Given the description of an element on the screen output the (x, y) to click on. 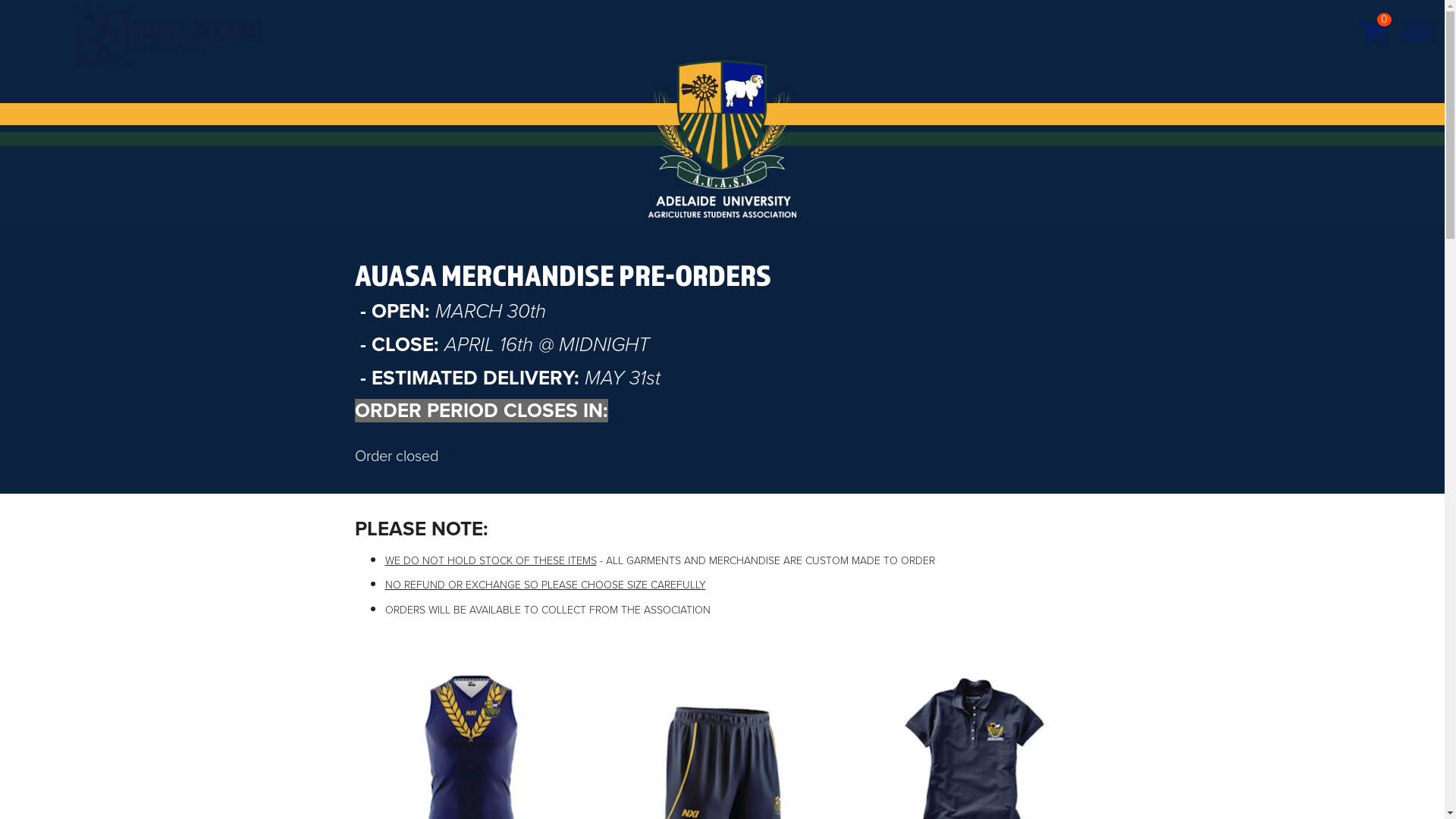
0 Element type: text (1373, 33)
